Given the description of an element on the screen output the (x, y) to click on. 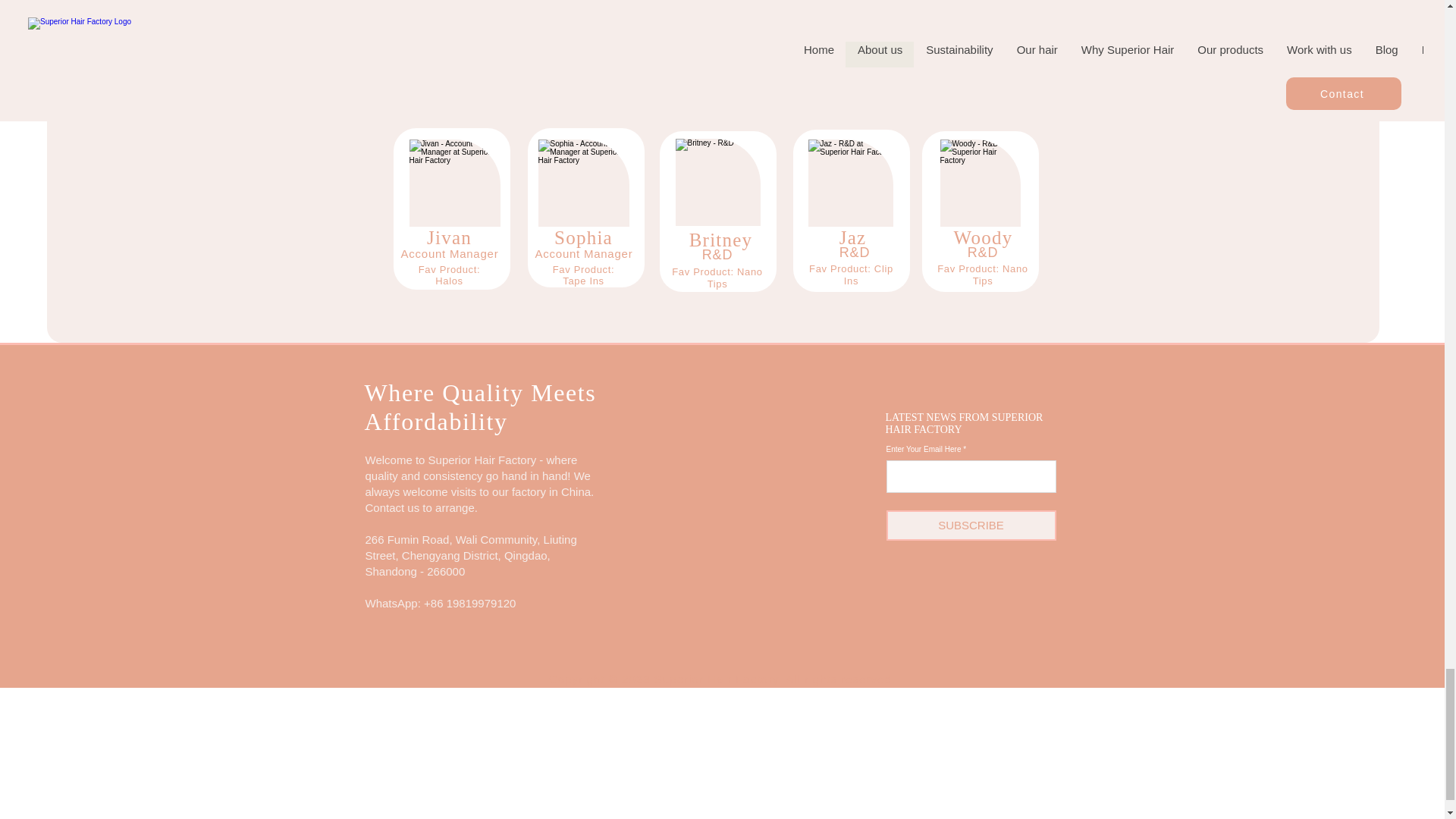
SUBSCRIBE (970, 525)
